Given the description of an element on the screen output the (x, y) to click on. 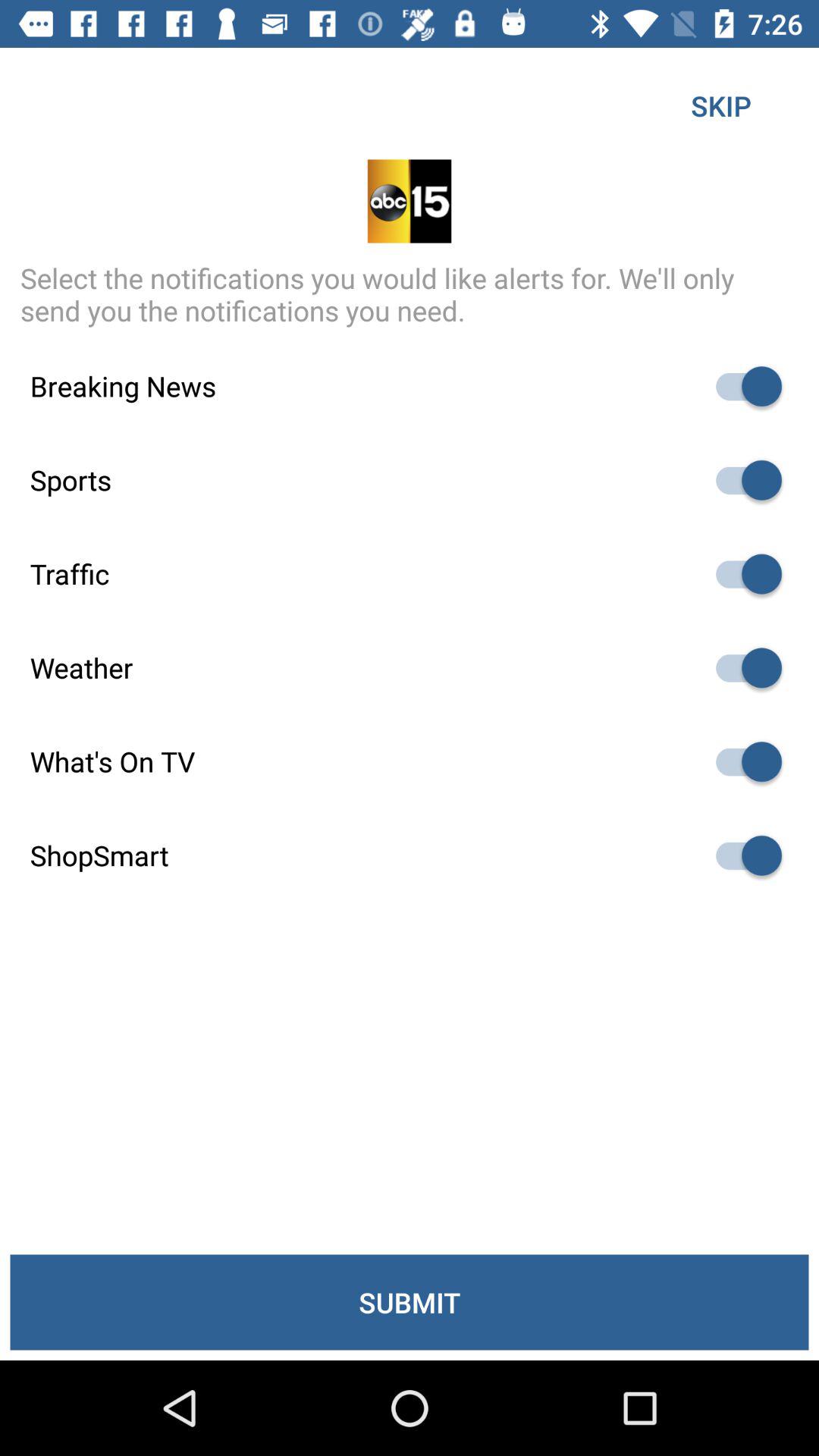
toggle traffic option (741, 574)
